Given the description of an element on the screen output the (x, y) to click on. 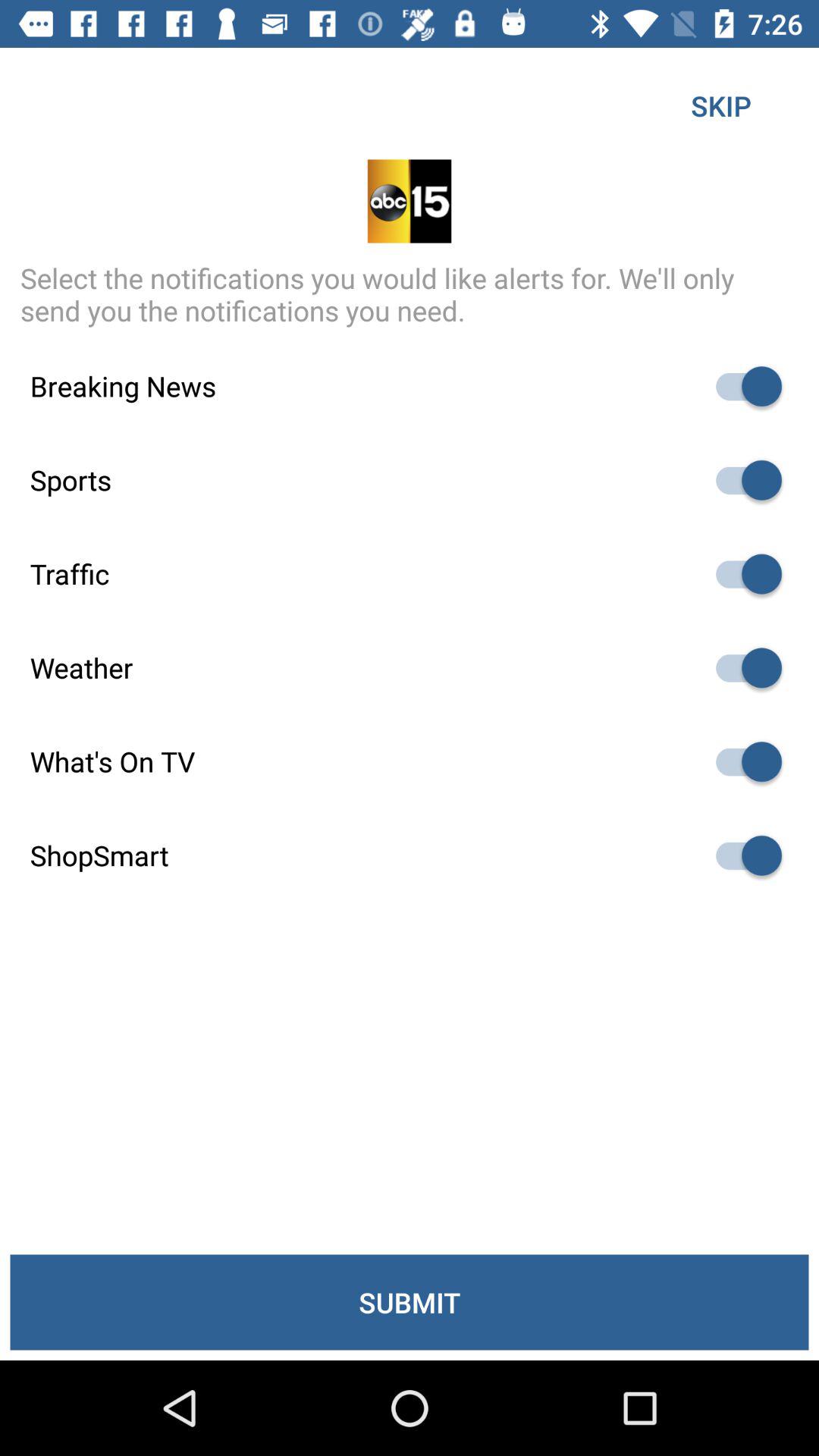
toggle traffic option (741, 574)
